Given the description of an element on the screen output the (x, y) to click on. 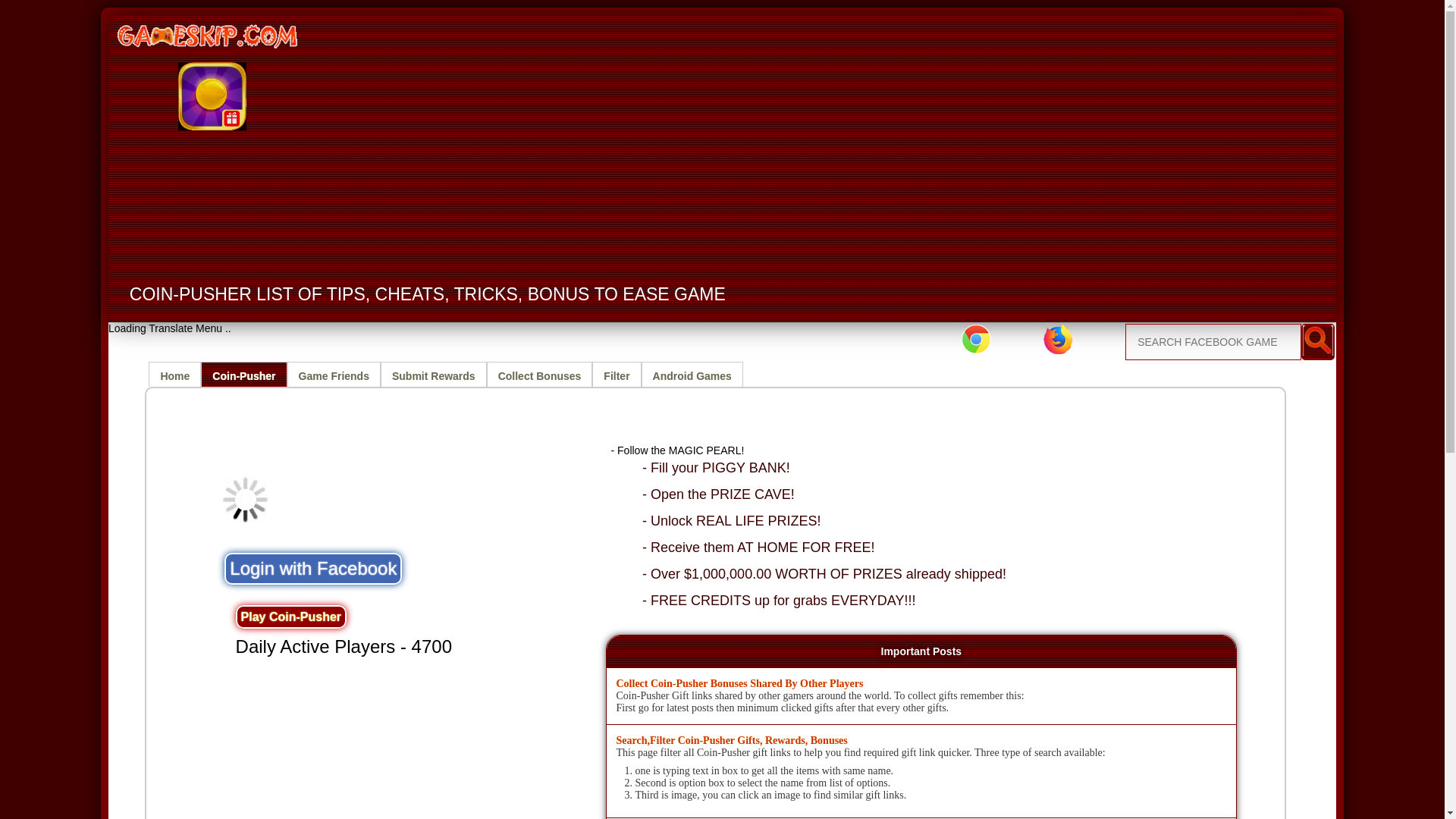
Play Coin-Pusher (290, 616)
Firefox Browser Addon (1057, 338)
Android Games (692, 373)
Collect Bonuses (539, 373)
Search,Filter Coin-Pusher Gifts, Rewards, Bonuses (731, 740)
Game Friends (333, 373)
Filter (616, 373)
Coin-Pusher List of Tips, Cheats, Tricks, Bonus To Ease Game (243, 373)
Coin-Pusher GameSkip (211, 96)
Submit Rewards (433, 373)
Home (174, 373)
Play Coin-Pusher (290, 616)
gameskip.com (208, 35)
